Given the description of an element on the screen output the (x, y) to click on. 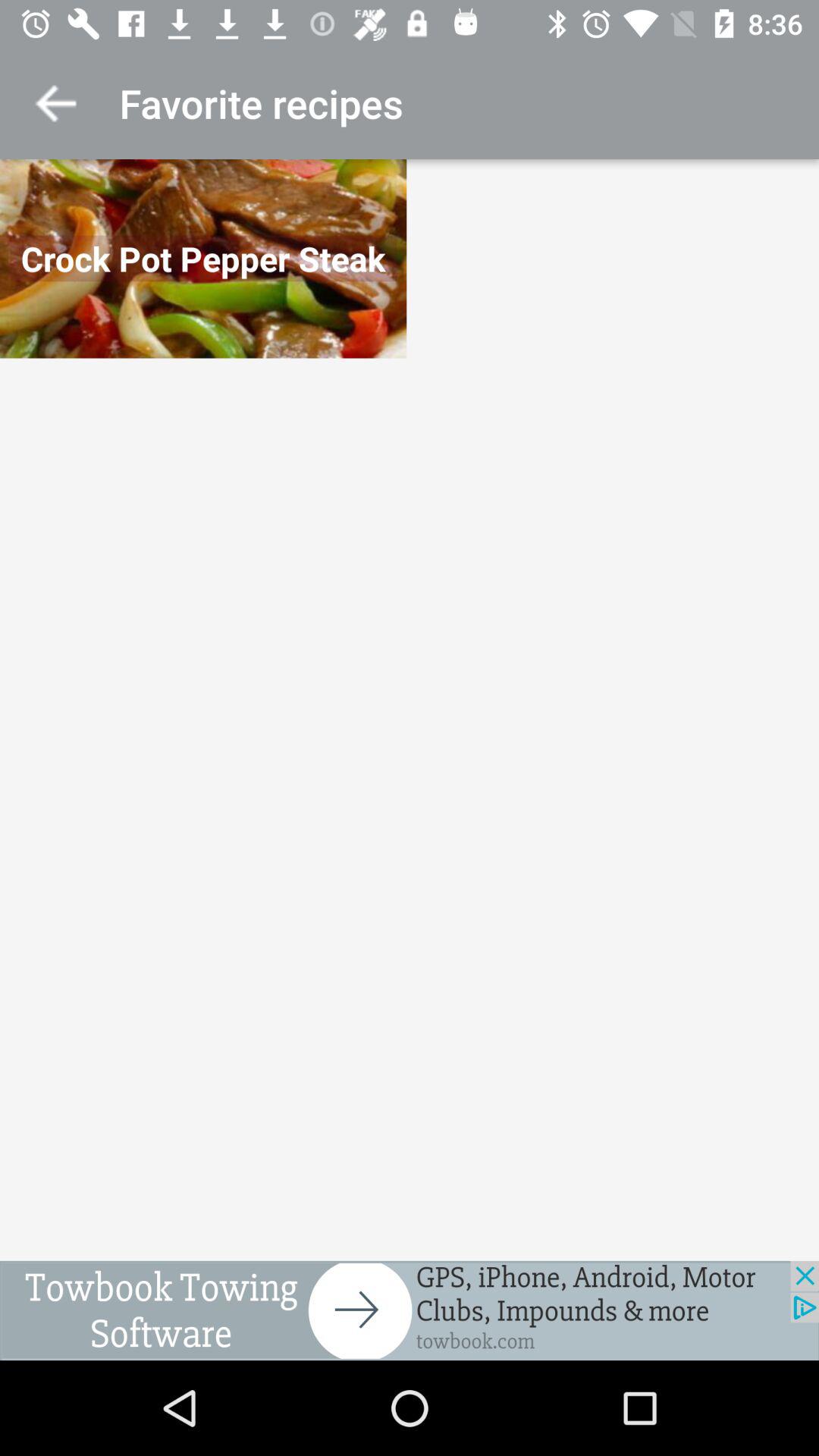
navigate to previous screen (55, 103)
